Given the description of an element on the screen output the (x, y) to click on. 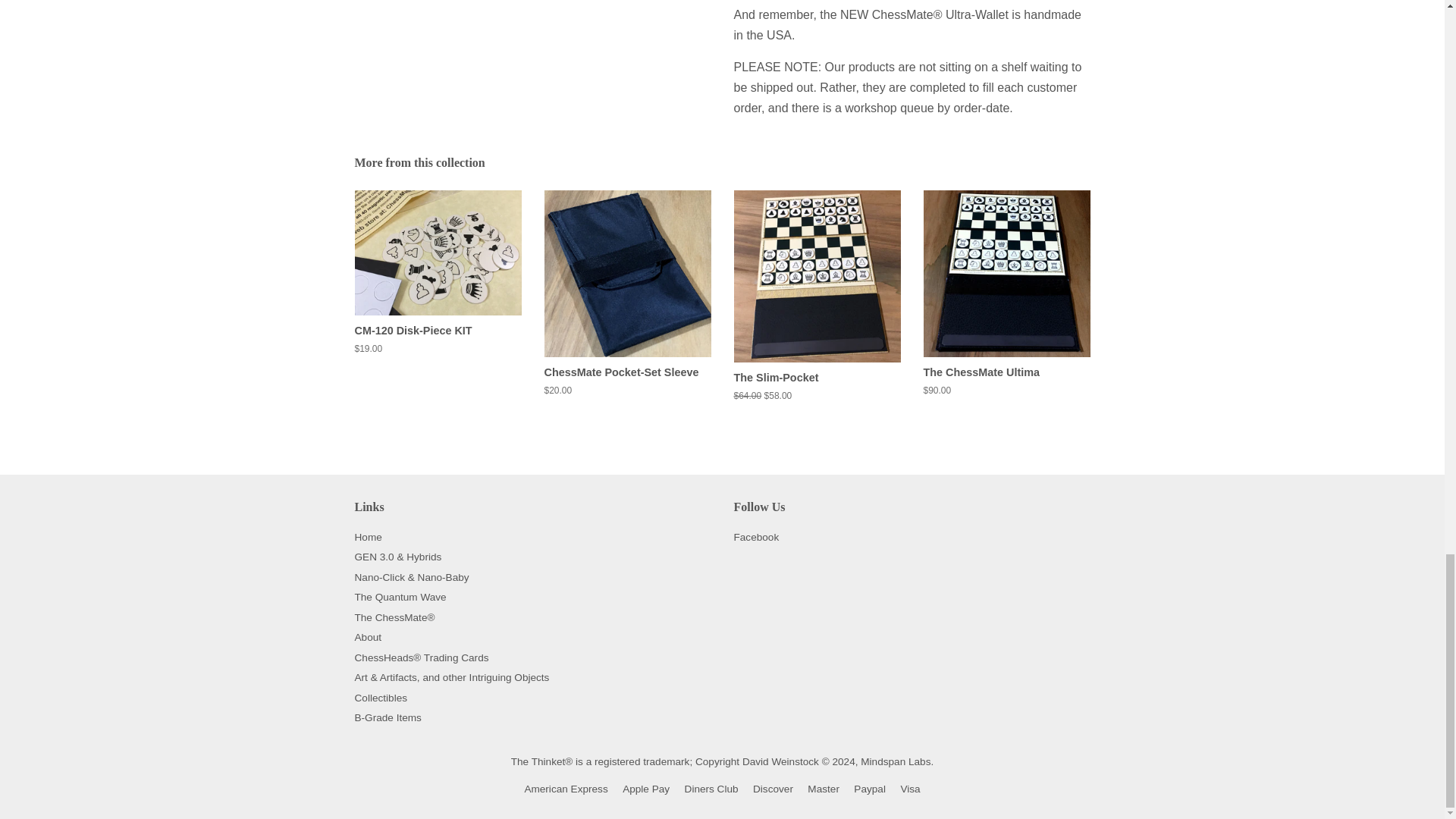
Mindspan Labs on Facebook (755, 536)
